Given the description of an element on the screen output the (x, y) to click on. 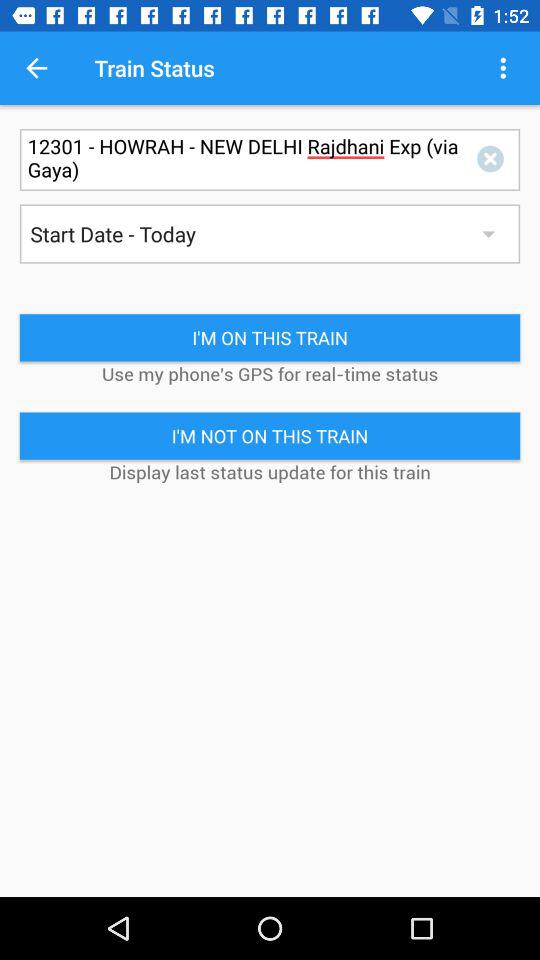
delet train route (494, 159)
